Given the description of an element on the screen output the (x, y) to click on. 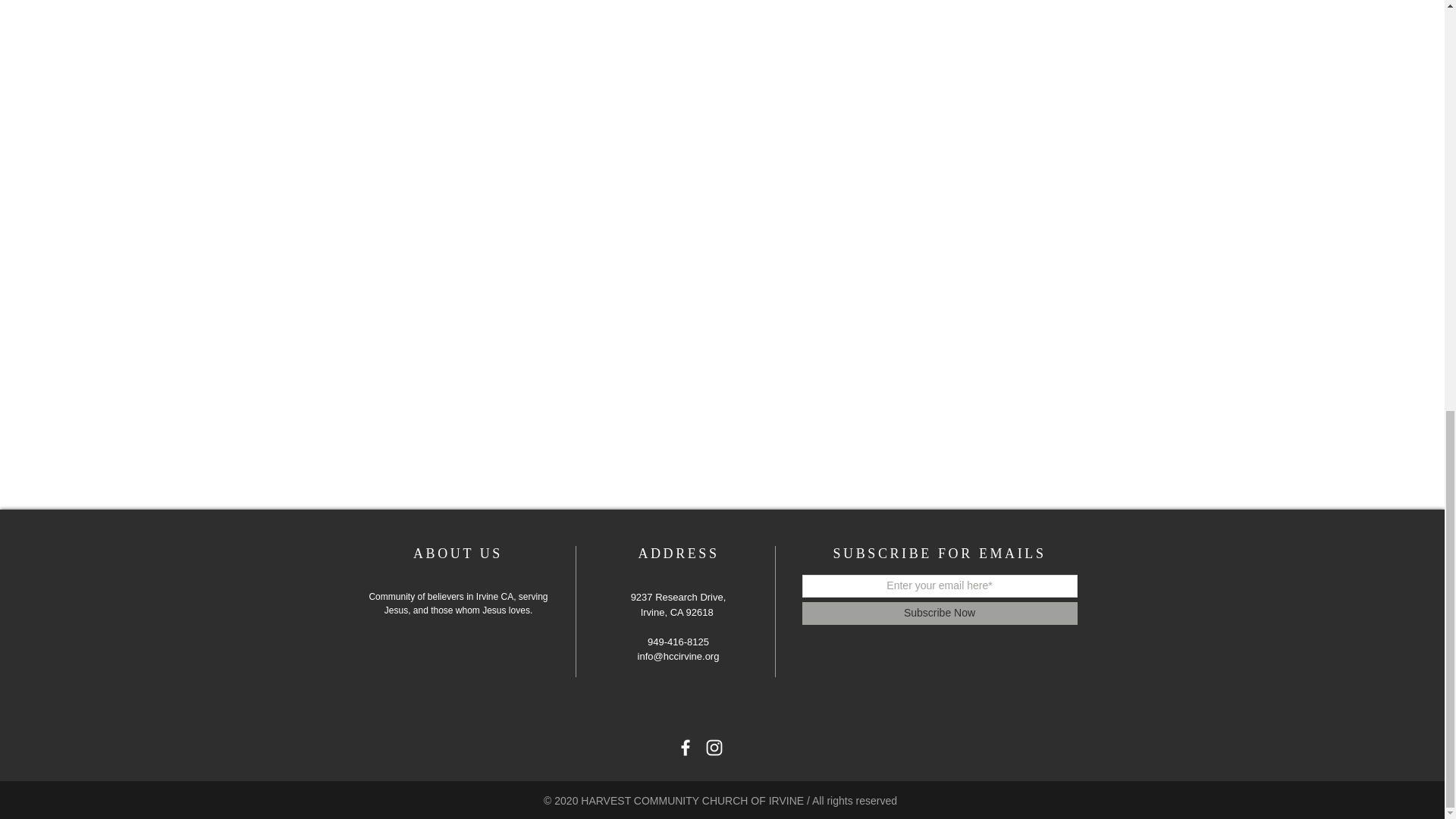
Subscribe Now (939, 612)
